Given the description of an element on the screen output the (x, y) to click on. 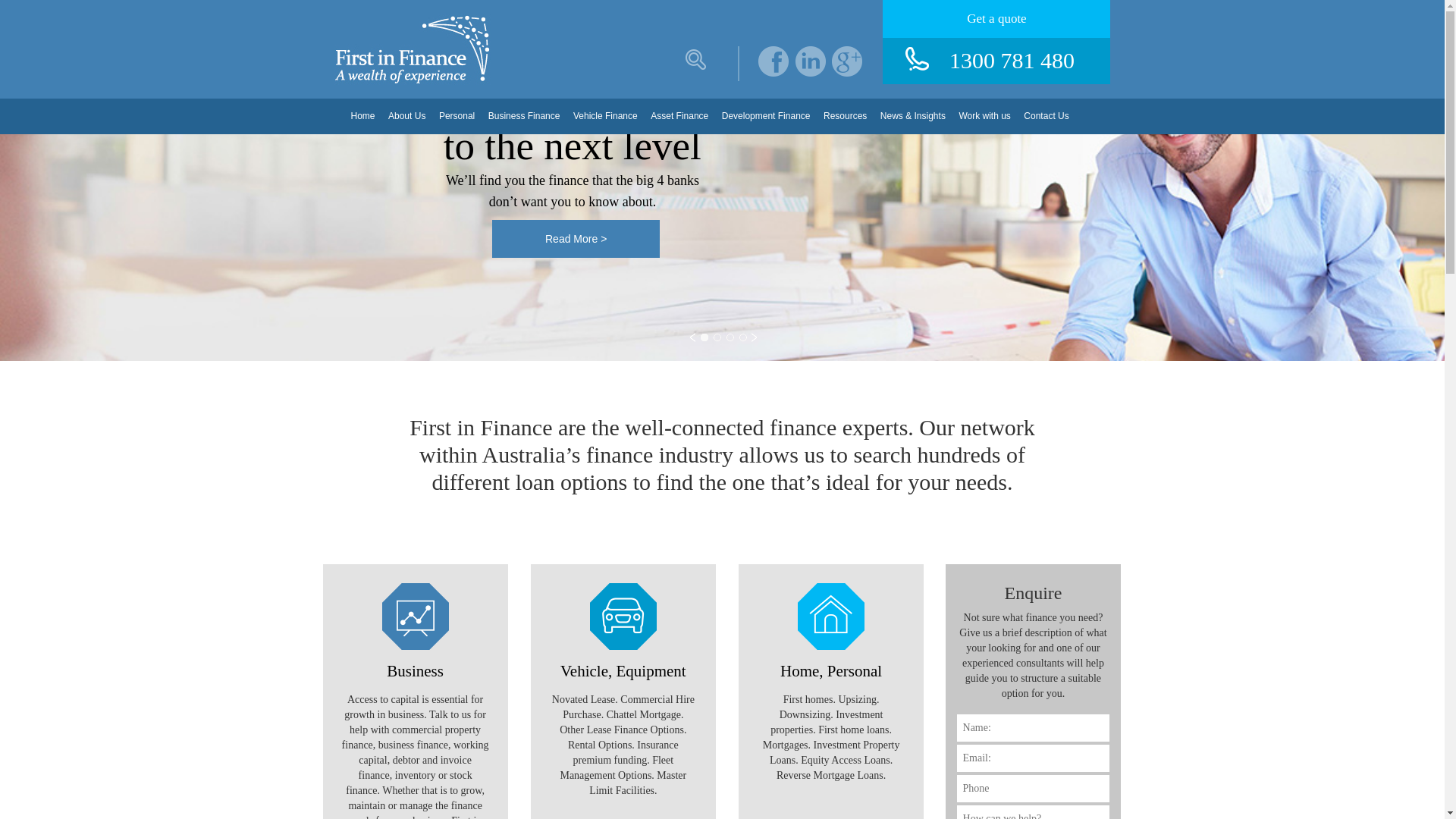
Work with us Element type: text (984, 116)
Read More > Element type: text (575, 238)
Vehicle Finance Element type: text (605, 116)
News & Insights Element type: text (912, 116)
Get a quote Element type: text (996, 18)
Business Finance Element type: text (524, 116)
About Us Element type: text (406, 116)
A wealth of experience Element type: hover (411, 48)
Home Element type: text (362, 116)
Contact Us Element type: text (1045, 116)
1300 781 480 Element type: text (996, 60)
Personal Element type: text (456, 116)
Development Finance Element type: text (765, 116)
Asset Finance Element type: text (679, 116)
Resources Element type: text (845, 116)
